Given the description of an element on the screen output the (x, y) to click on. 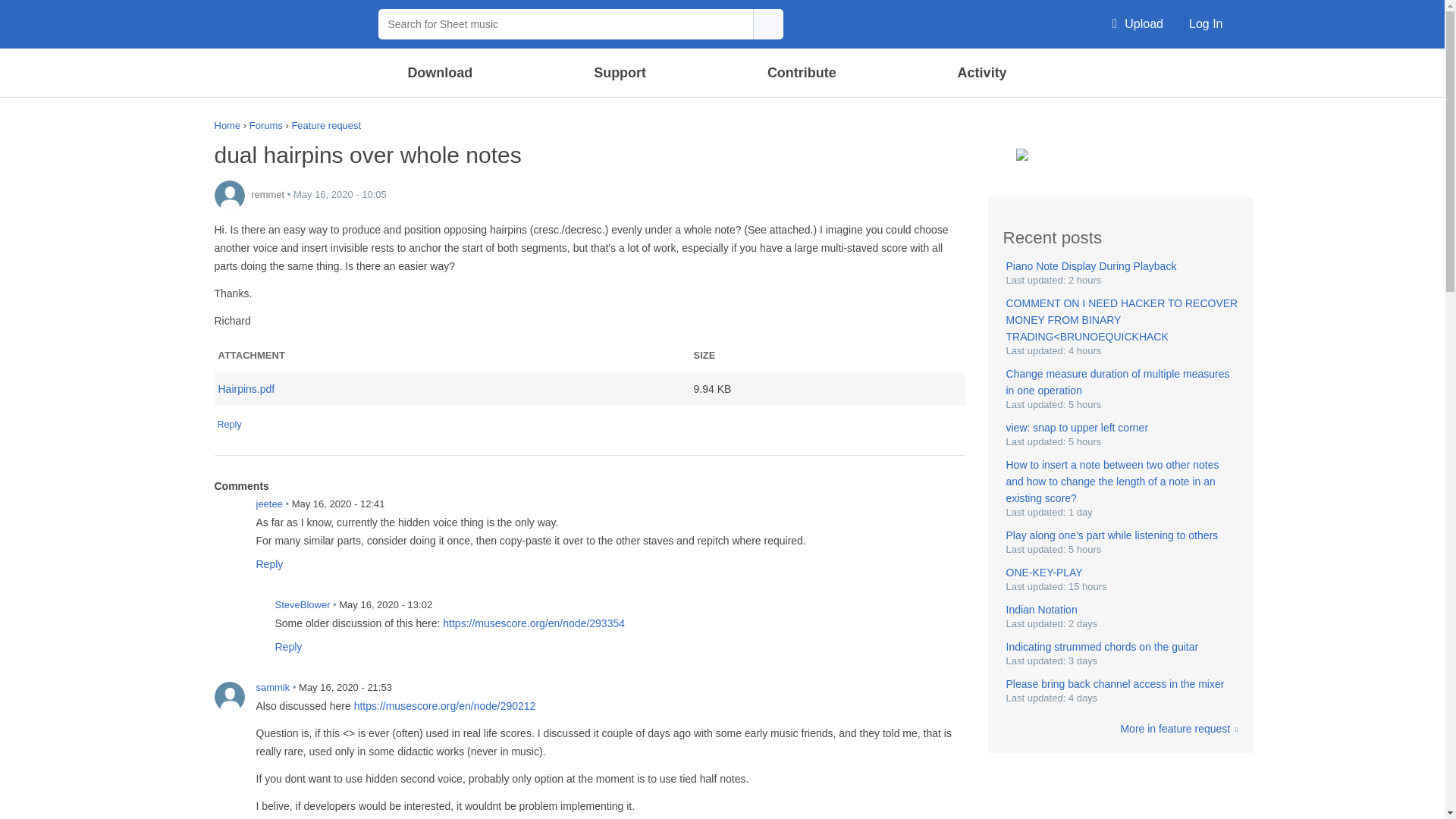
Upload (1137, 24)
SteveBlower (247, 613)
Activity (981, 72)
Home (287, 23)
sammik (229, 696)
remmet (229, 195)
Search (1082, 71)
Log In (1205, 24)
Search (767, 24)
MuseScore (287, 23)
jeetee (229, 512)
Contribute (801, 72)
Download (440, 72)
Search (767, 24)
